Given the description of an element on the screen output the (x, y) to click on. 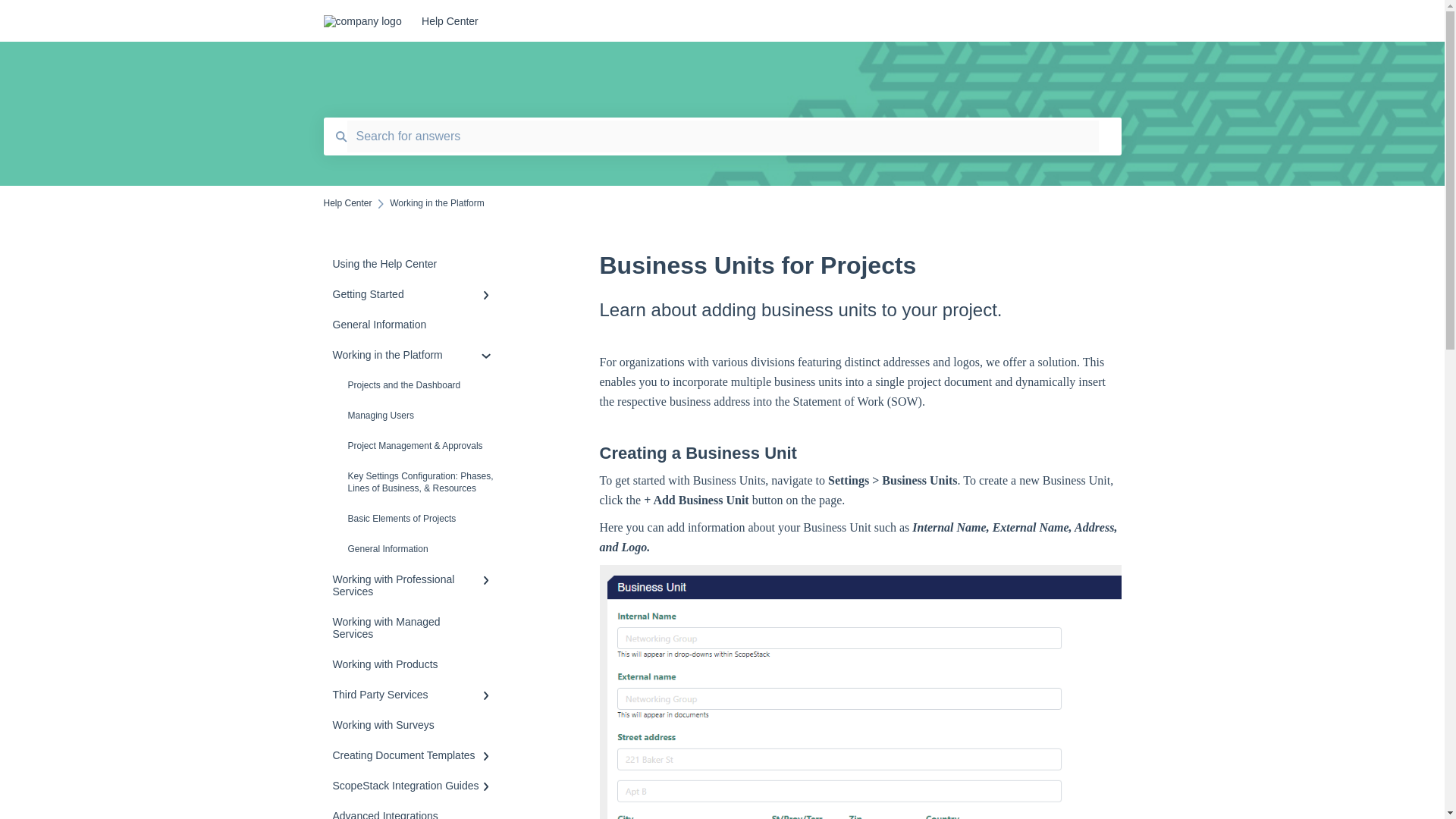
Help Center (754, 21)
